Given the description of an element on the screen output the (x, y) to click on. 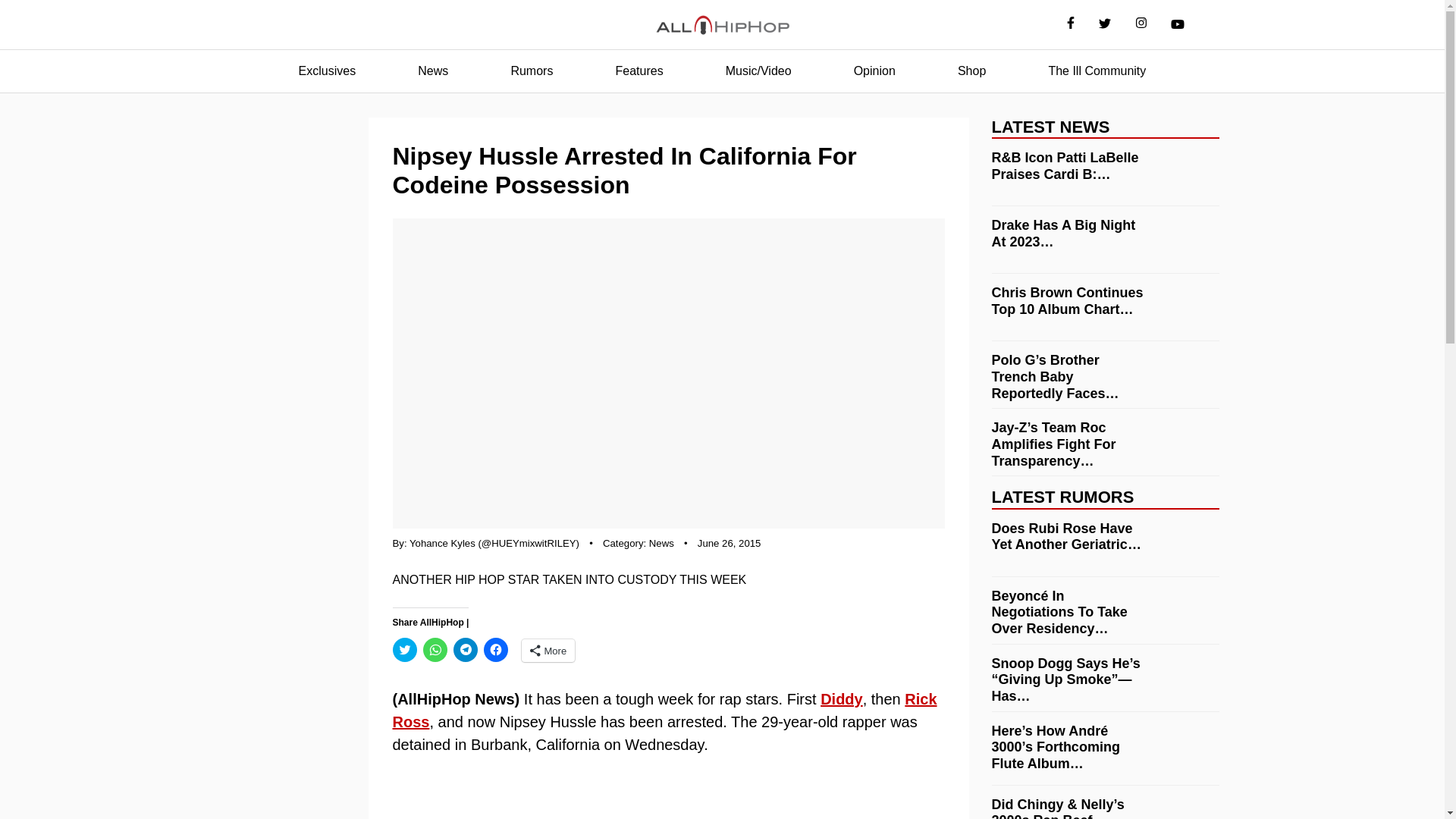
Click to share on Twitter (404, 649)
AllHipHop (722, 25)
Click to share on Facebook (495, 649)
Opinion (874, 70)
News (661, 542)
The Ill Community (1096, 70)
Exclusives (327, 70)
Rumors (530, 70)
Shop (970, 70)
June 26, 2015 (729, 542)
Click to share on WhatsApp (434, 649)
News (433, 70)
Features (638, 70)
Click to share on Telegram (464, 649)
